Given the description of an element on the screen output the (x, y) to click on. 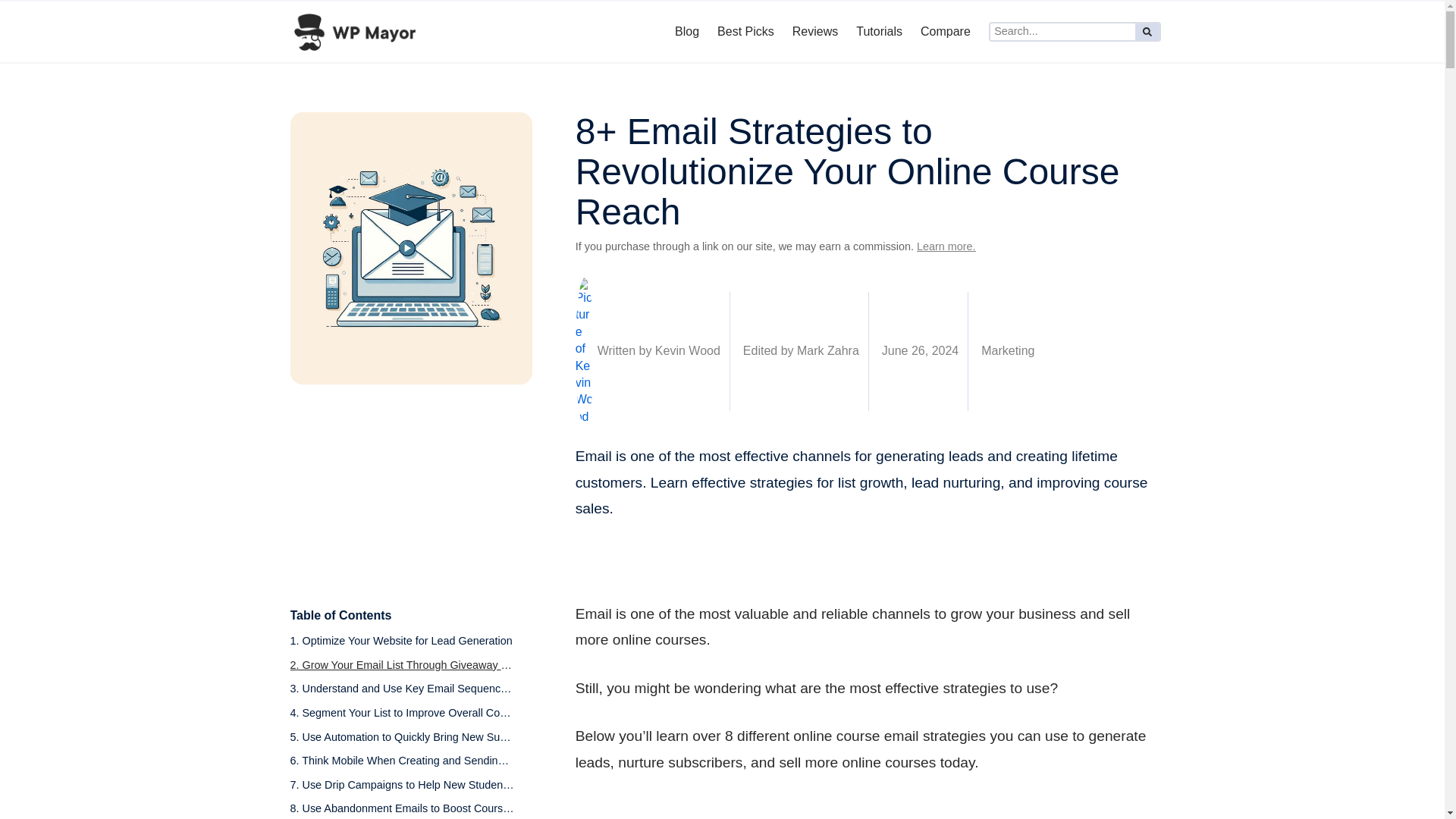
4. Segment Your List to Improve Overall Conversions (401, 717)
8. Use Abandonment Emails to Boost Course Sales (401, 809)
Compare (945, 31)
Best Picks (745, 31)
Learn more. (946, 246)
Tutorials (879, 31)
Reviews (815, 31)
Marketing (1007, 350)
1. Optimize Your Website for Lead Generation (400, 645)
7. Use Drip Campaigns to Help New Students Succeed (401, 789)
2. Grow Your Email List Through Giveaway Campaigns (401, 669)
6. Think Mobile When Creating and Sending Emails (401, 764)
Edited by Mark Zahra (799, 351)
